Given the description of an element on the screen output the (x, y) to click on. 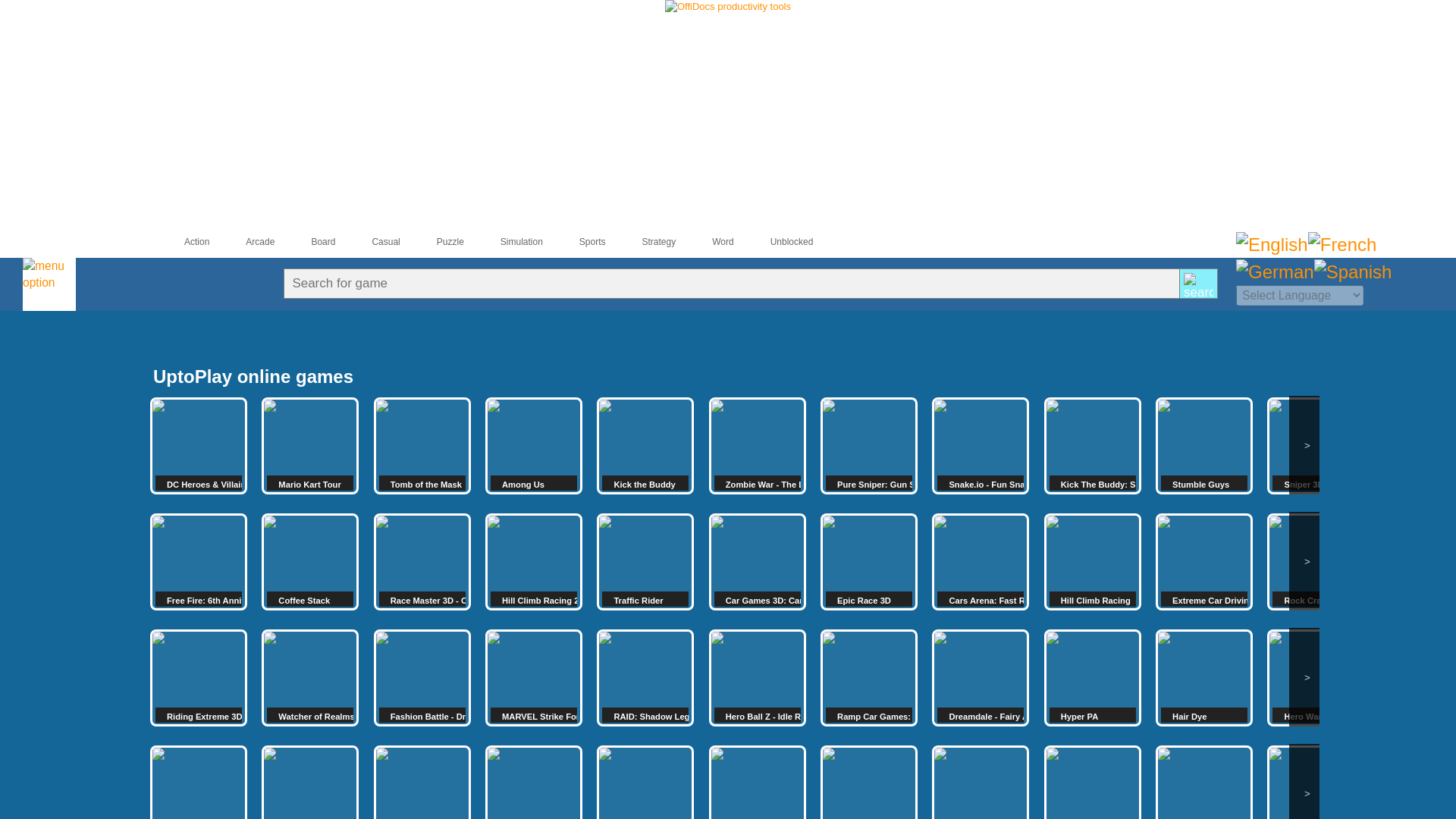
search (1197, 286)
Simulation (508, 241)
Hill Climb Racing 2 (533, 561)
Arcade (247, 241)
Word games online (709, 241)
Casual (371, 241)
French (1342, 244)
Arcade games online (247, 241)
Word (709, 241)
Kick The Buddy: Second Kick (1092, 445)
